Given the description of an element on the screen output the (x, y) to click on. 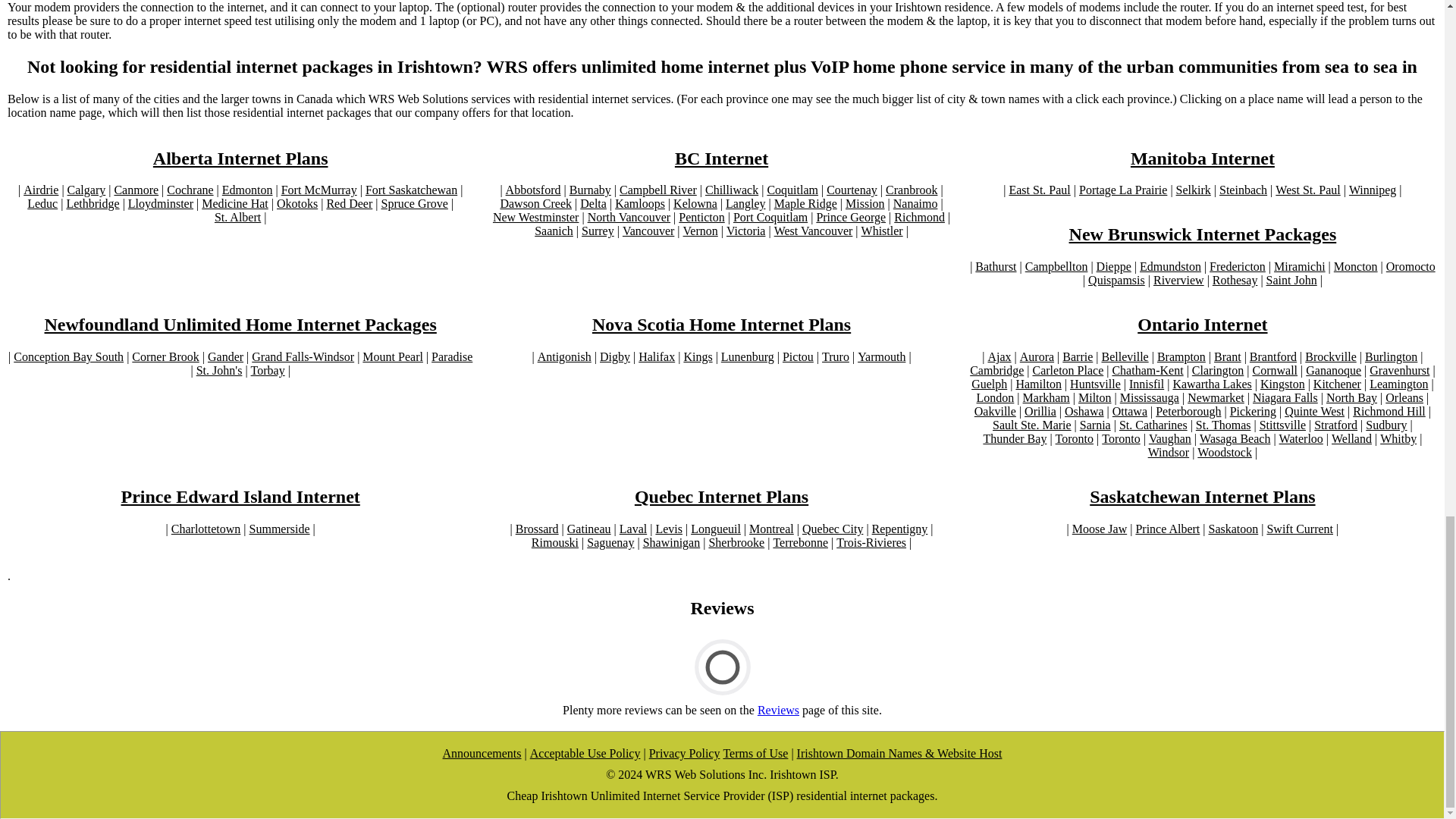
Fort McMurray (318, 190)
Medicine Hat (234, 203)
Leduc (42, 203)
Fort Saskatchewan (411, 190)
Chilliwack (731, 190)
Calgary (86, 190)
Airdrie (40, 190)
Red Deer (349, 203)
Spruce Grove (413, 203)
St. Albert (237, 217)
